Given the description of an element on the screen output the (x, y) to click on. 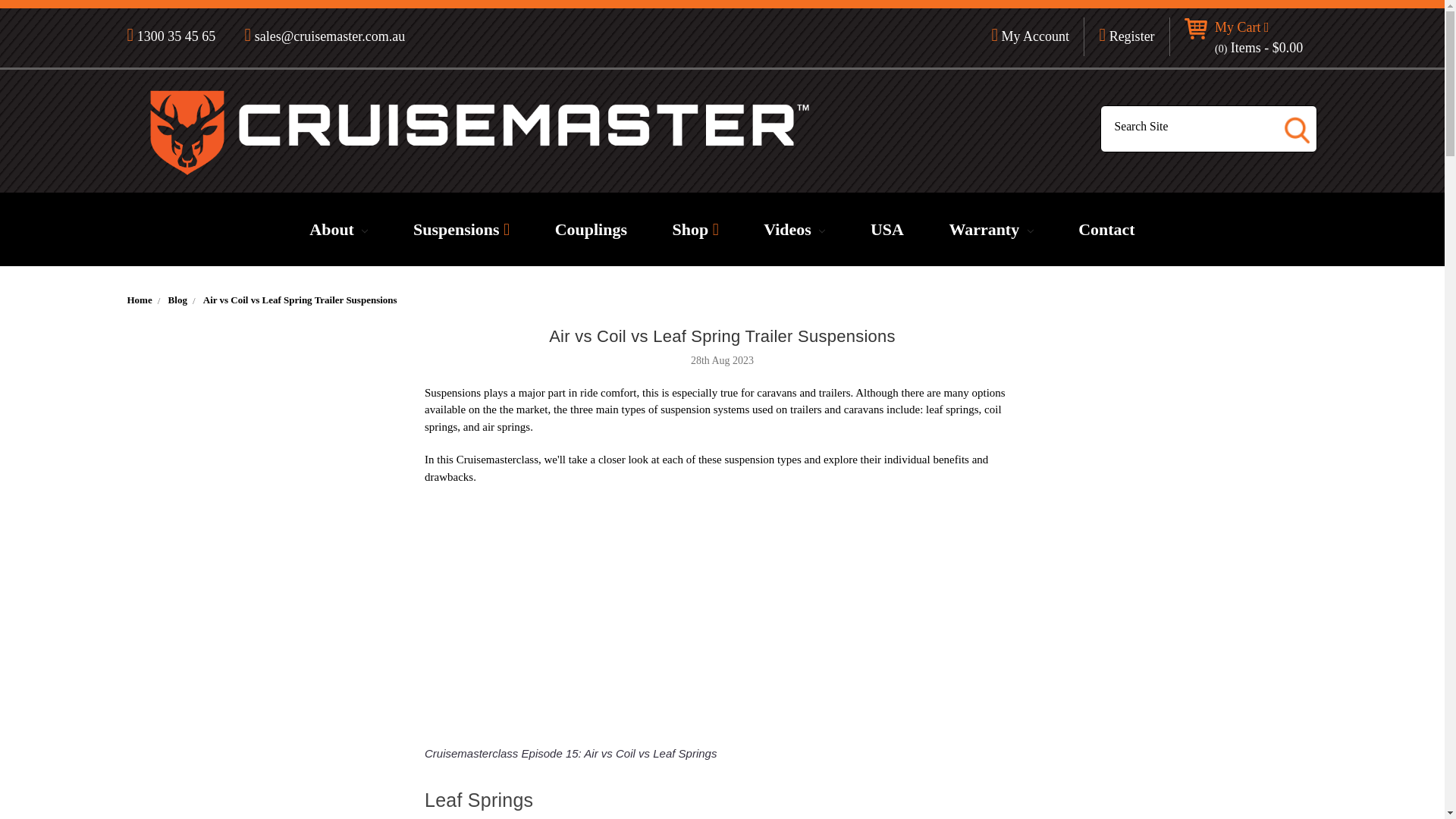
About (338, 229)
Videos (793, 229)
Cruisemaster (478, 131)
Register (1127, 36)
Couplings (590, 229)
My Account (1030, 36)
1300 35 45 65 (179, 36)
Shop (694, 229)
Suspensions (461, 229)
